Given the description of an element on the screen output the (x, y) to click on. 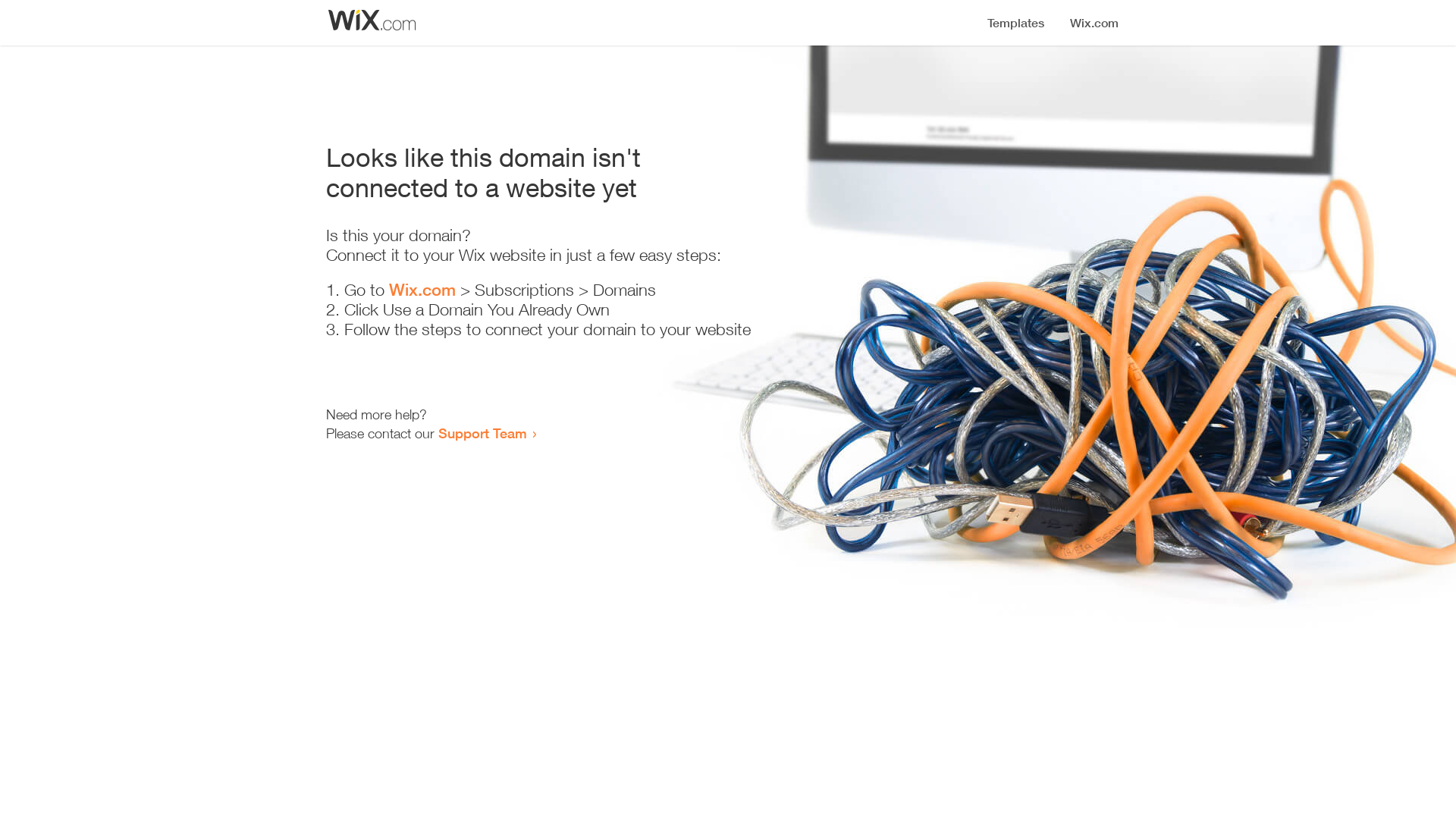
Support Team Element type: text (482, 432)
Wix.com Element type: text (422, 289)
